Given the description of an element on the screen output the (x, y) to click on. 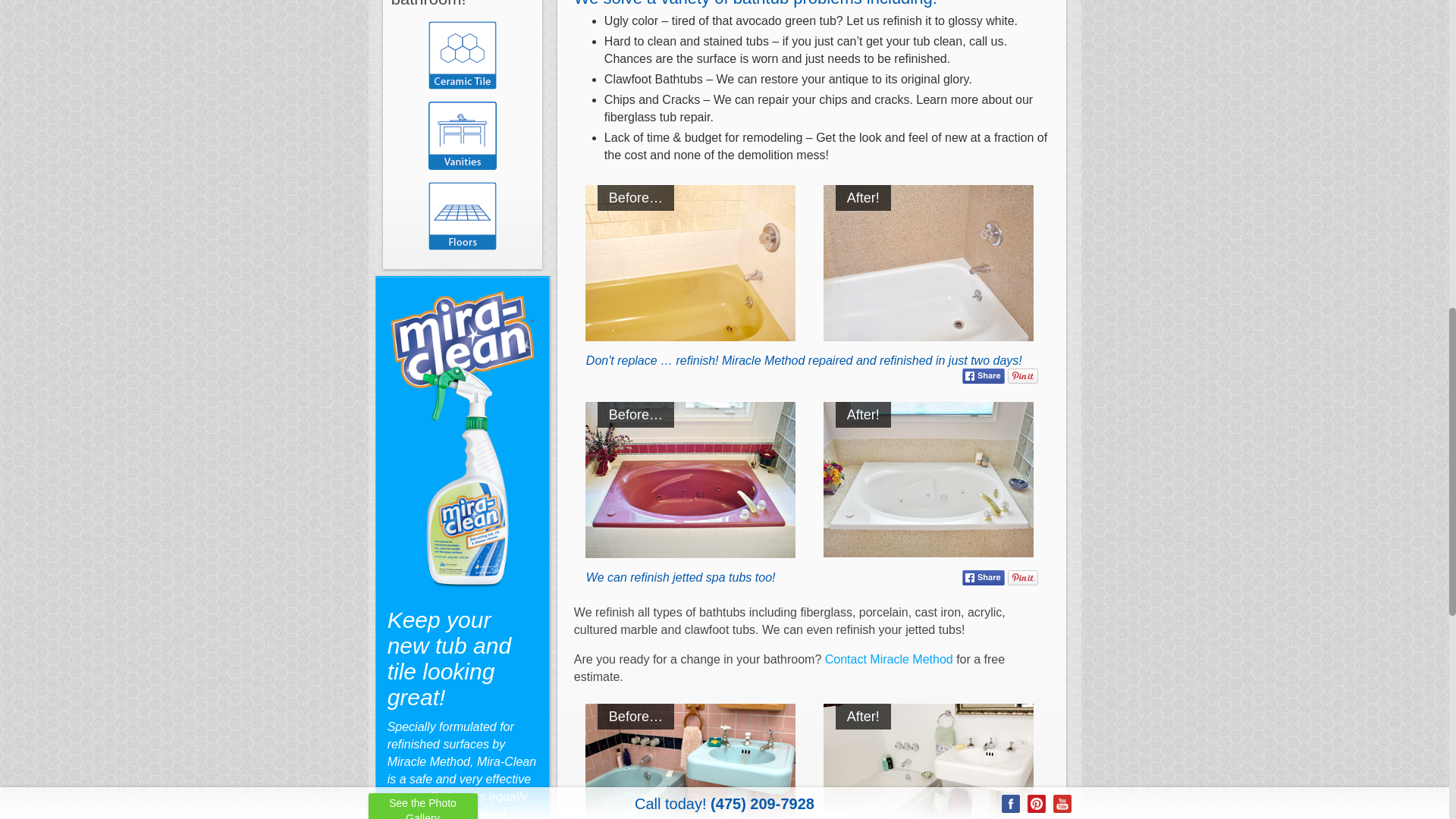
See the Photo Gallery (422, 4)
Contact Miracle Method (889, 658)
